Given the description of an element on the screen output the (x, y) to click on. 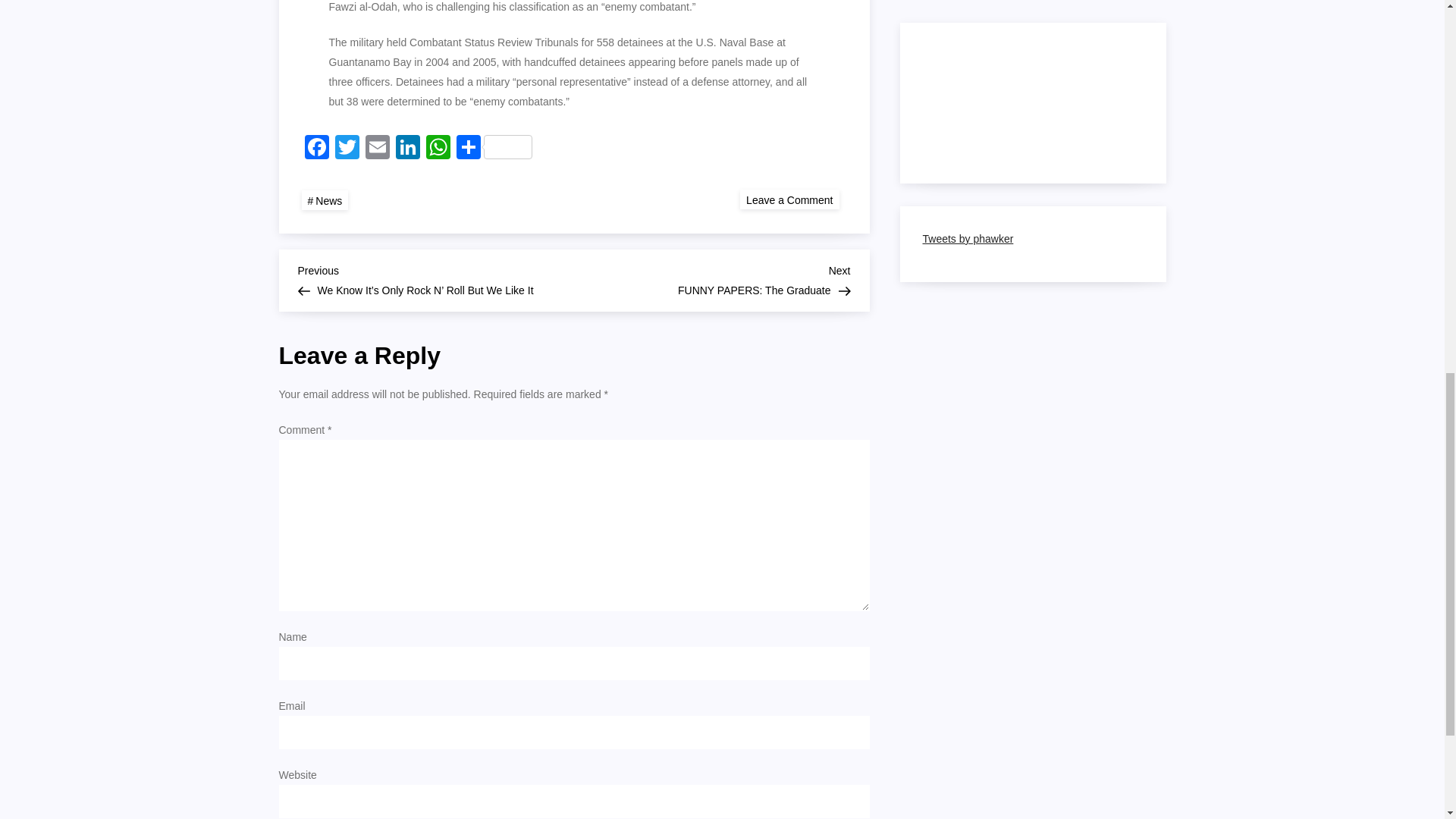
Email (377, 148)
News (325, 200)
Twitter (346, 148)
Facebook (316, 148)
Twitter (346, 148)
WhatsApp (437, 148)
WhatsApp (437, 148)
LinkedIn (408, 148)
Facebook (316, 148)
